Given the description of an element on the screen output the (x, y) to click on. 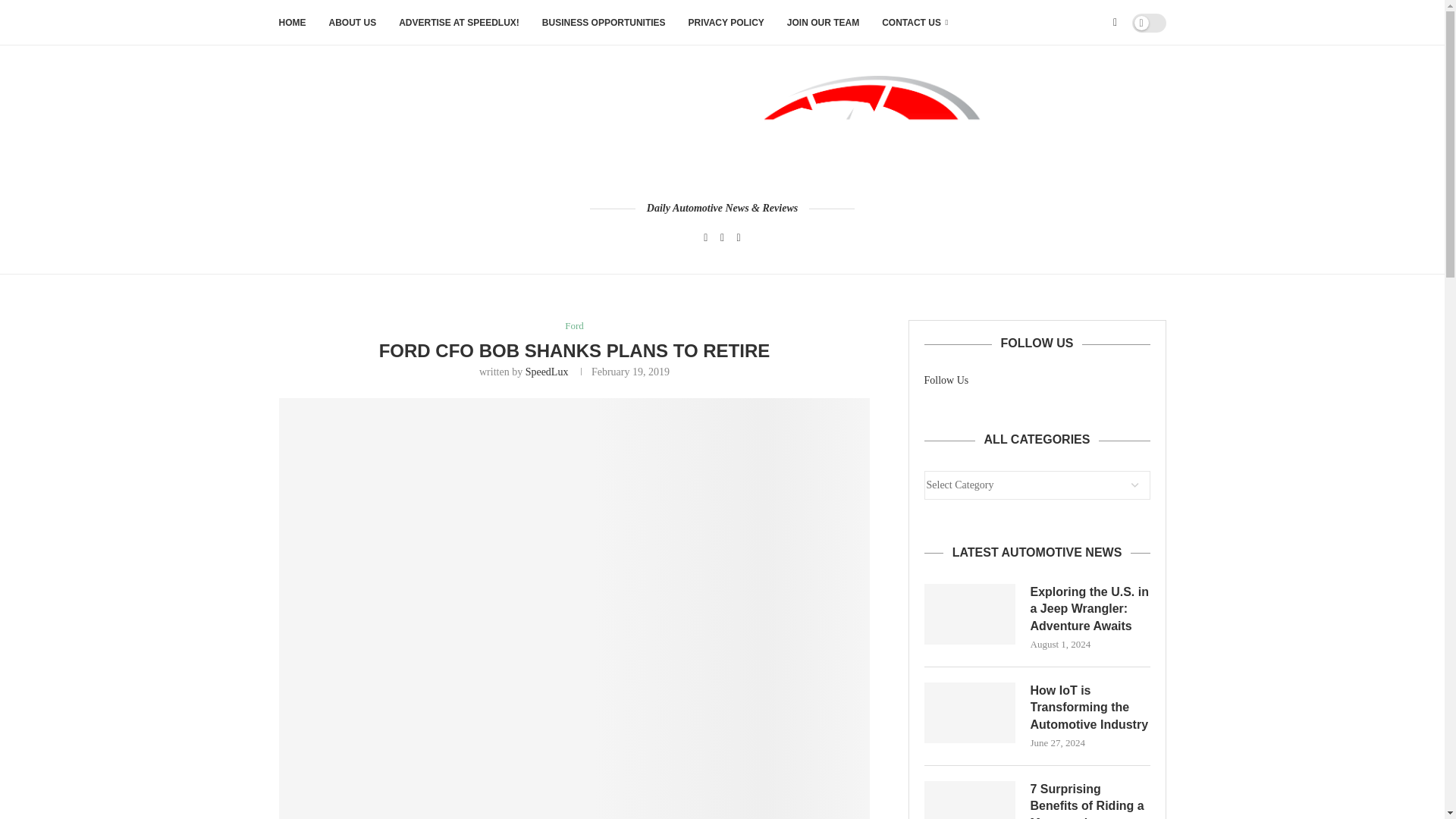
PRIVACY POLICY (726, 22)
JOIN OUR TEAM (823, 22)
CONTACT US (915, 22)
SpeedLux (547, 371)
ABOUT US (353, 22)
Ford (573, 326)
BUSINESS OPPORTUNITIES (603, 22)
ADVERTISE AT SPEEDLUX! (458, 22)
